Given the description of an element on the screen output the (x, y) to click on. 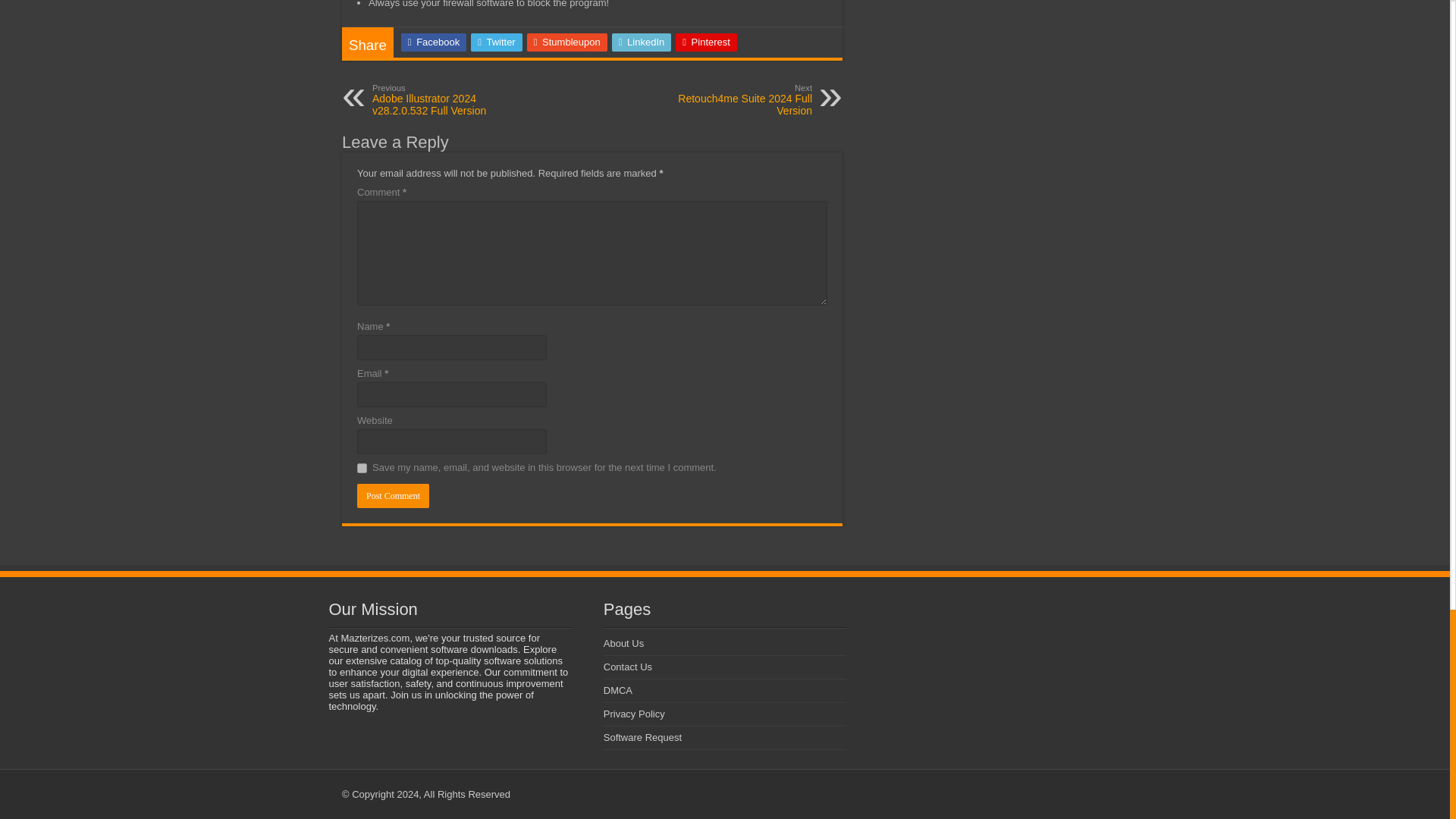
Post Comment (392, 495)
yes (361, 468)
Facebook (433, 42)
